Given the description of an element on the screen output the (x, y) to click on. 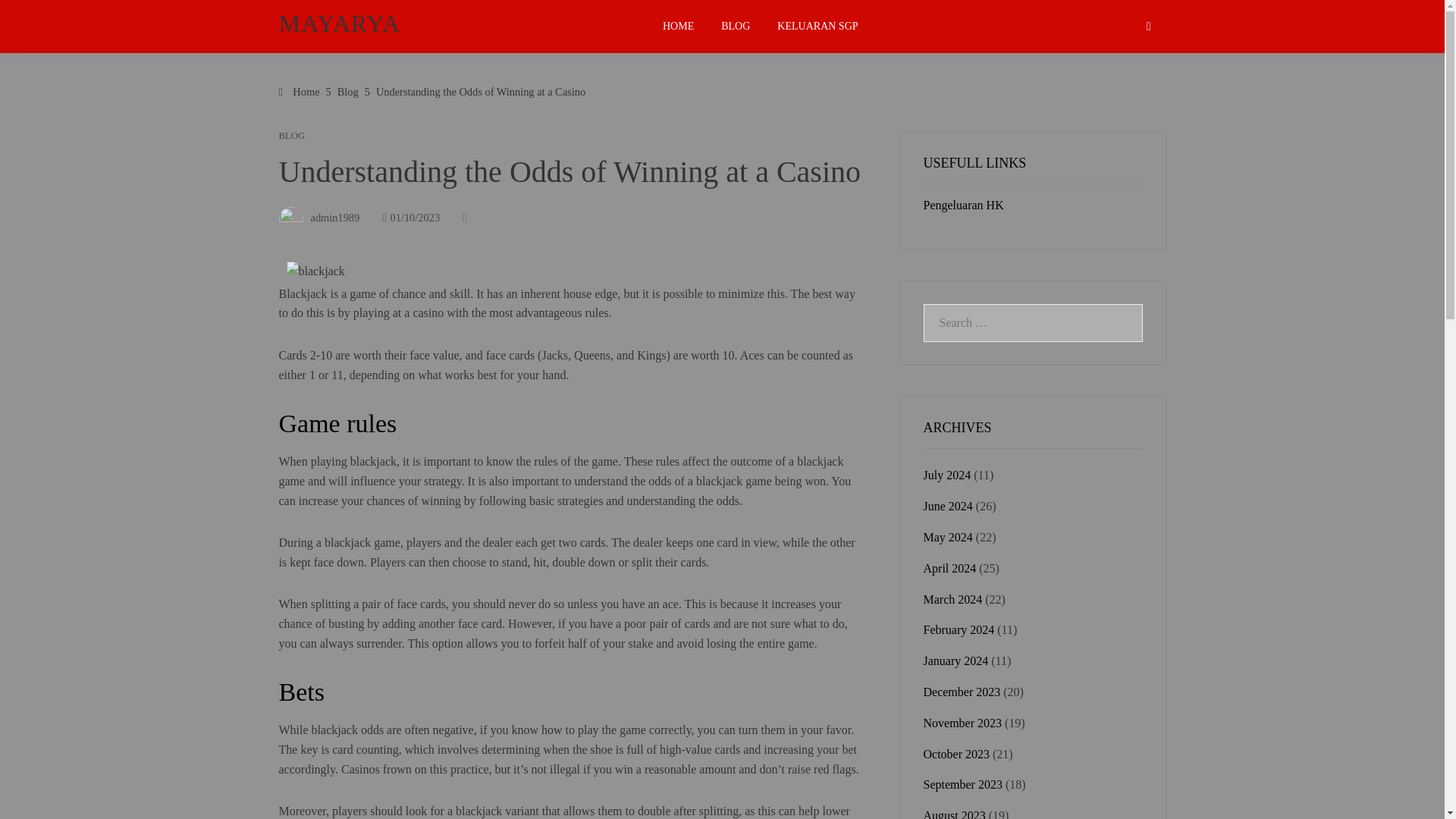
BLOG (292, 135)
March 2024 (952, 599)
May 2024 (947, 536)
September 2023 (963, 784)
Pengeluaran HK (963, 205)
Search (35, 18)
January 2024 (955, 660)
BLOG (735, 26)
April 2024 (949, 567)
June 2024 (947, 505)
February 2024 (958, 629)
July 2024 (947, 474)
KELUARAN SGP (817, 26)
November 2023 (963, 722)
August 2023 (954, 814)
